Given the description of an element on the screen output the (x, y) to click on. 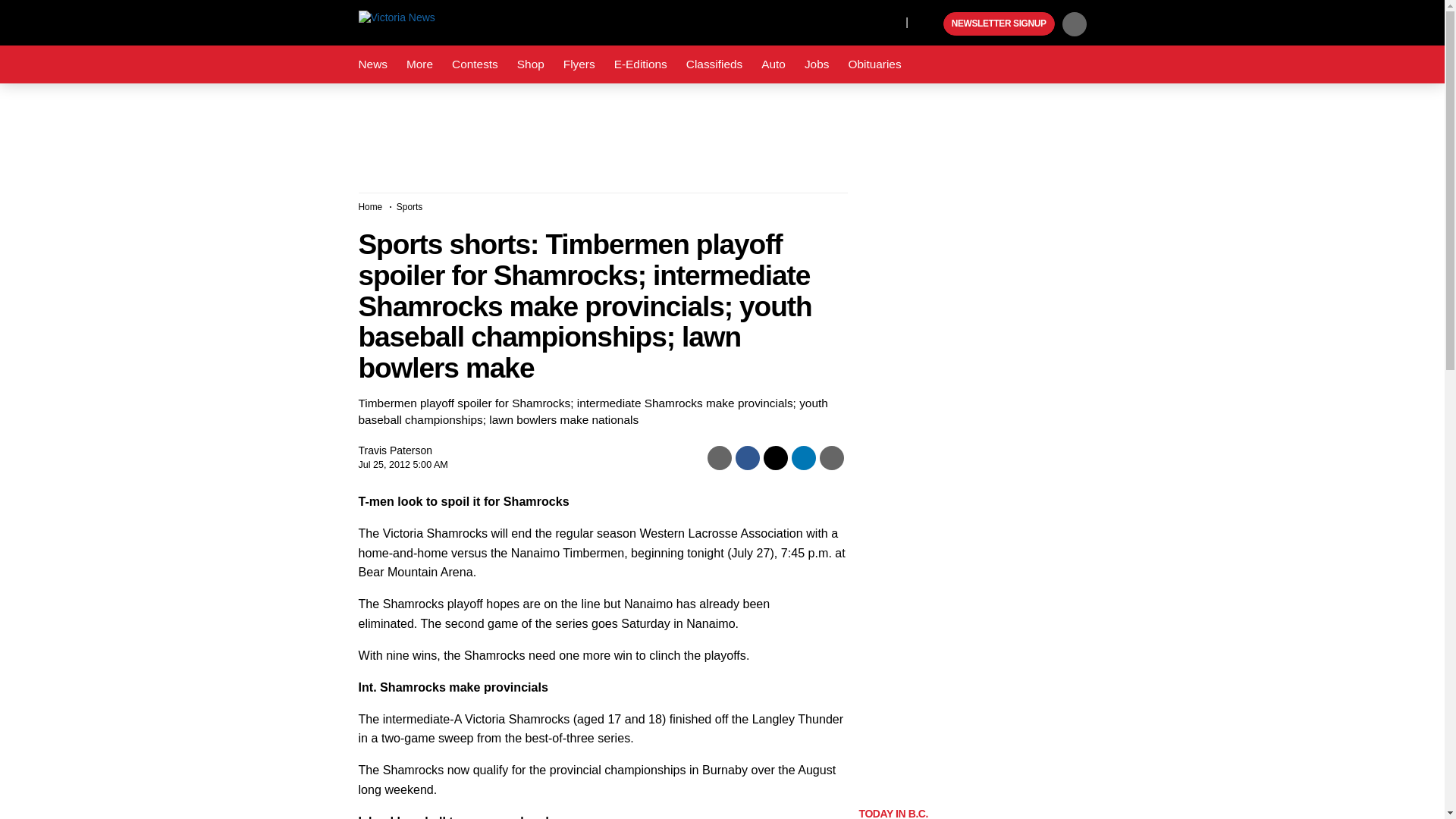
X (889, 21)
Black Press Media (929, 24)
News (372, 64)
Play (929, 24)
NEWSLETTER SIGNUP (998, 24)
